Given the description of an element on the screen output the (x, y) to click on. 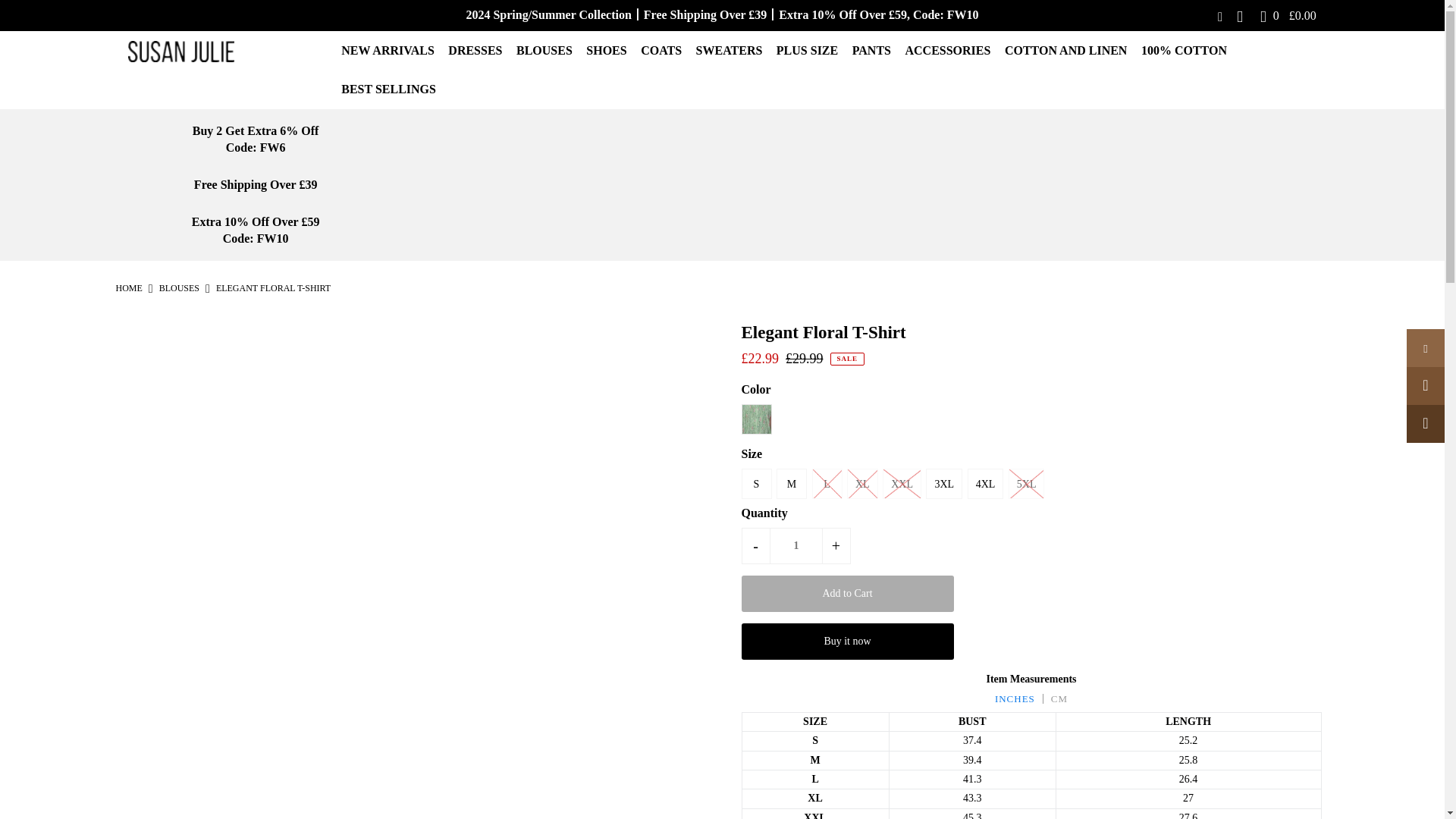
NEW ARRIVALS (392, 50)
Home (128, 287)
SHOES (611, 50)
PLUS SIZE (812, 50)
Blouses (178, 287)
BLOUSES (549, 50)
Add to Cart (847, 593)
COTTON AND LINEN (1071, 50)
DRESSES (480, 50)
BEST SELLINGS (393, 88)
ACCESSORIES (952, 50)
BLOUSES (178, 287)
1 (796, 545)
SWEATERS (734, 50)
HOME (128, 287)
